Given the description of an element on the screen output the (x, y) to click on. 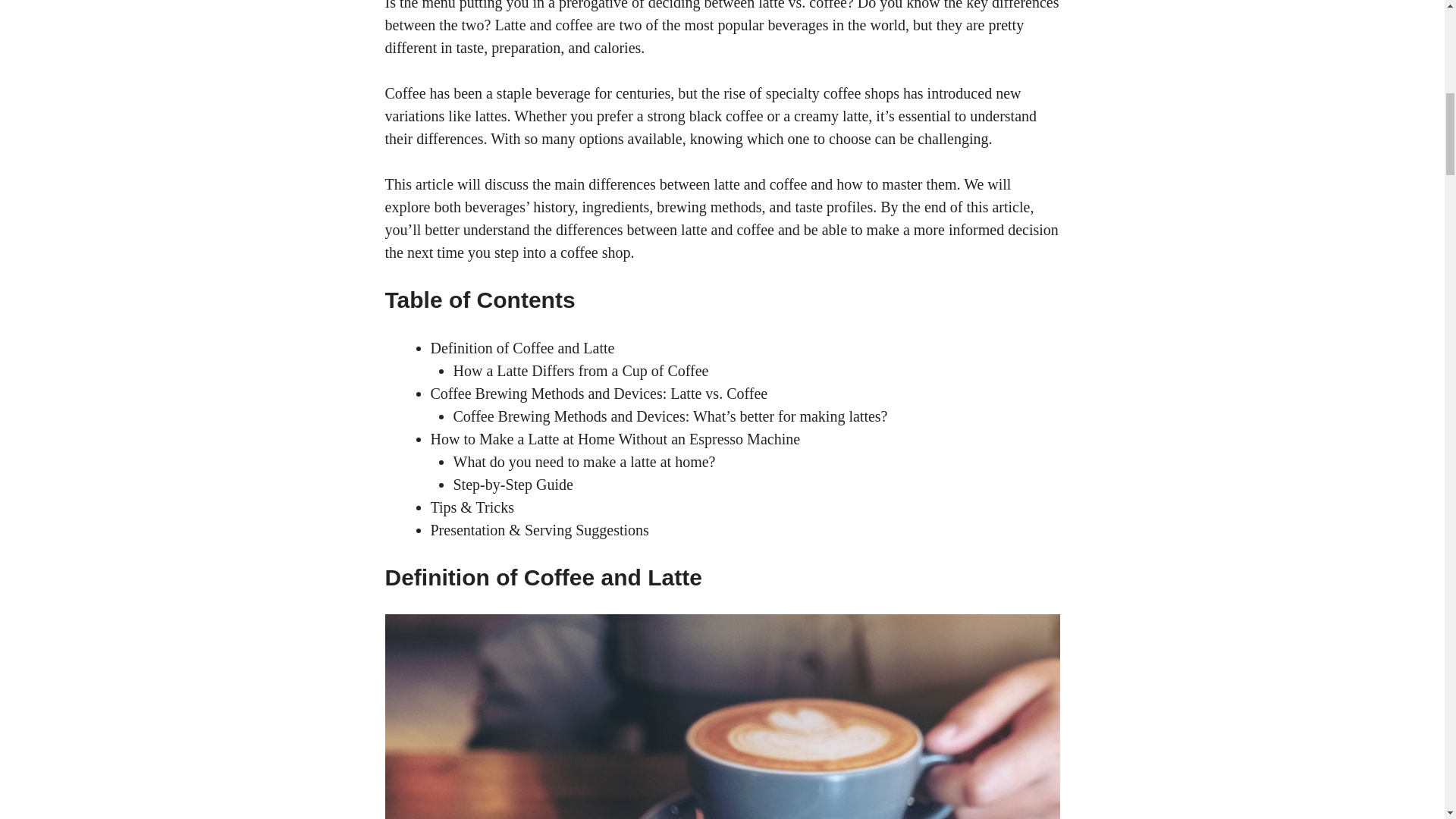
Definition of Coffee and Latte (522, 347)
Coffee Brewing Methods and Devices: Latte vs. Coffee (599, 393)
How a Latte Differs from a Cup of Coffee (580, 370)
What do you need to make a latte at home? (584, 461)
How to Make a Latte at Home Without an Espresso Machine (615, 438)
Step-by-Step Guide (512, 484)
